Given the description of an element on the screen output the (x, y) to click on. 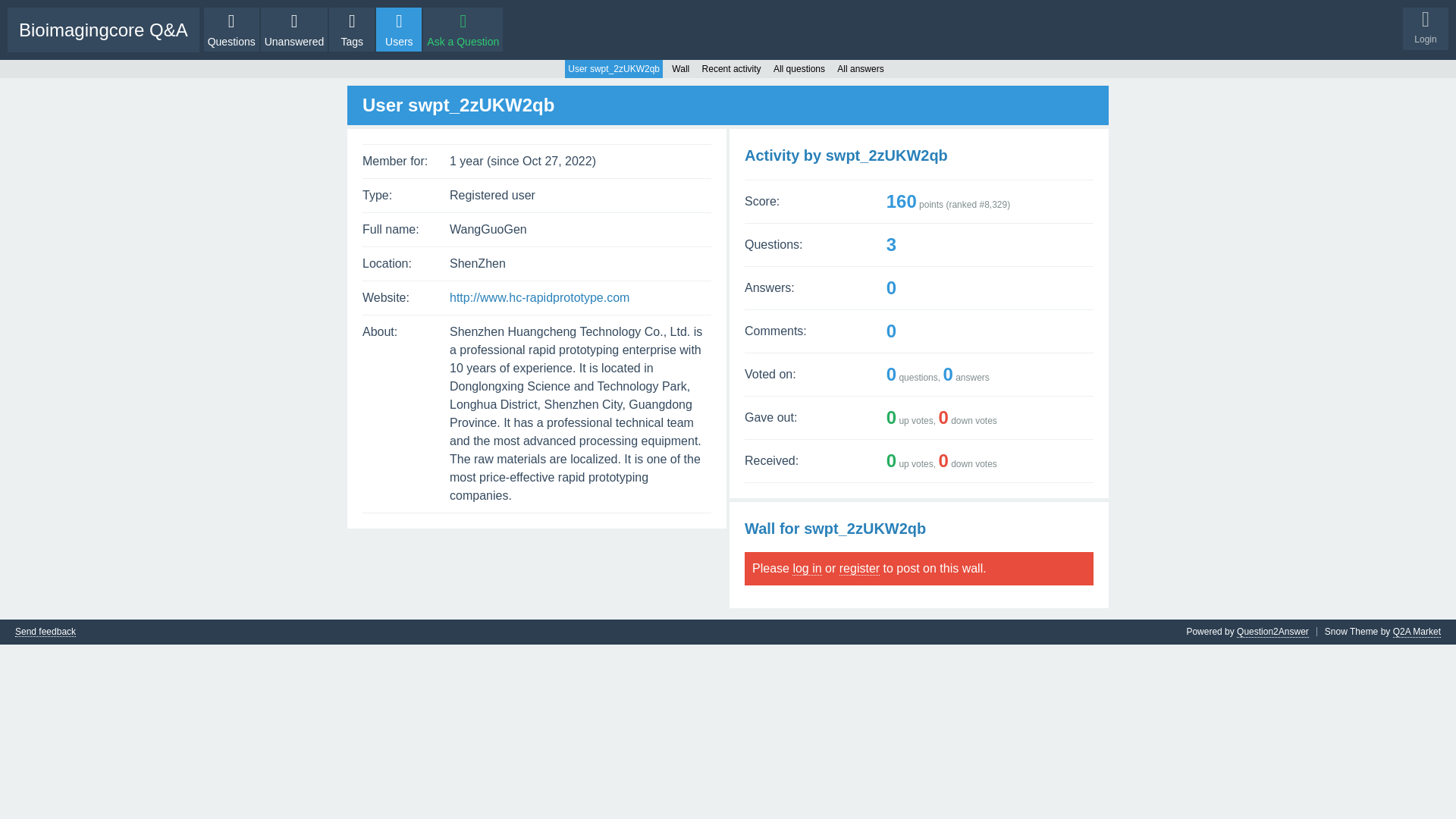
Unanswered (294, 29)
Recent activity (731, 68)
register (859, 568)
Question2Answer (1272, 632)
log in (806, 568)
Users (398, 29)
All answers (860, 68)
All questions (799, 68)
Questions (231, 29)
Tags (351, 29)
Send feedback (44, 632)
Wall (680, 68)
Q2A Market (1417, 632)
Ask a Question (462, 29)
